Given the description of an element on the screen output the (x, y) to click on. 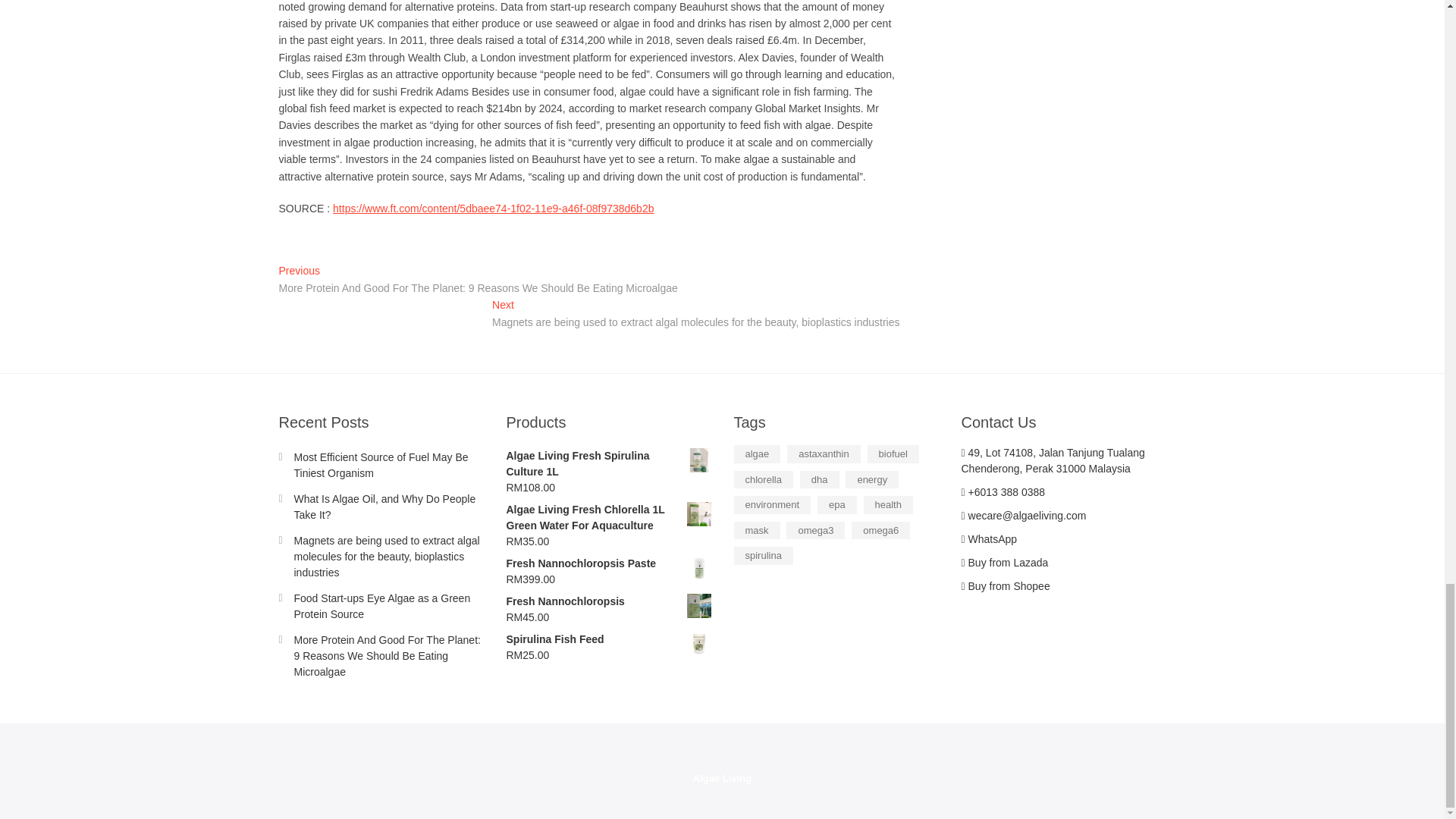
Call Us (1002, 491)
Live chat (988, 539)
Algae Living (722, 778)
Shopee (1004, 585)
Lazada (1004, 562)
Mail Us (1023, 515)
